Given the description of an element on the screen output the (x, y) to click on. 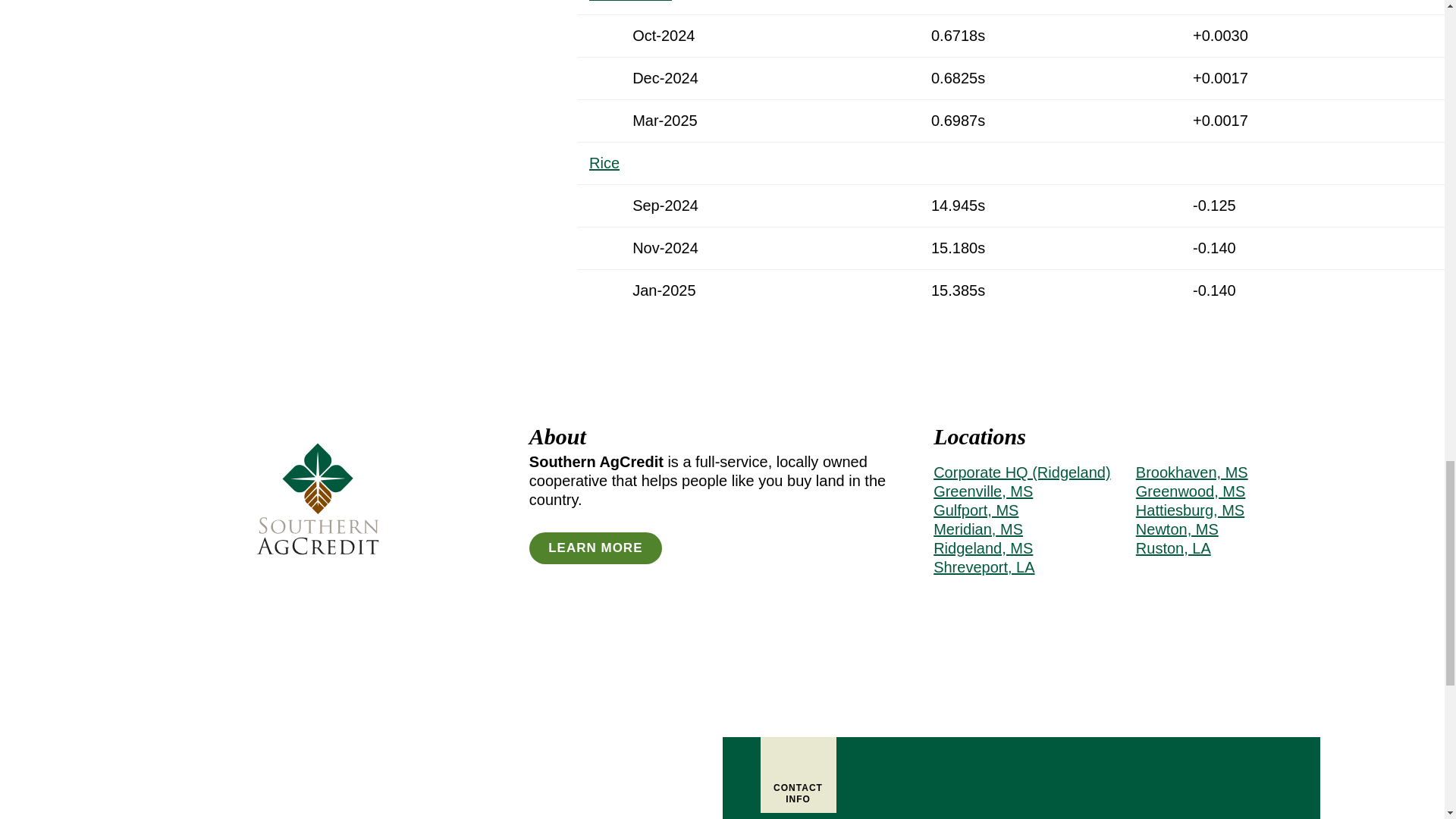
Client (317, 559)
